Given the description of an element on the screen output the (x, y) to click on. 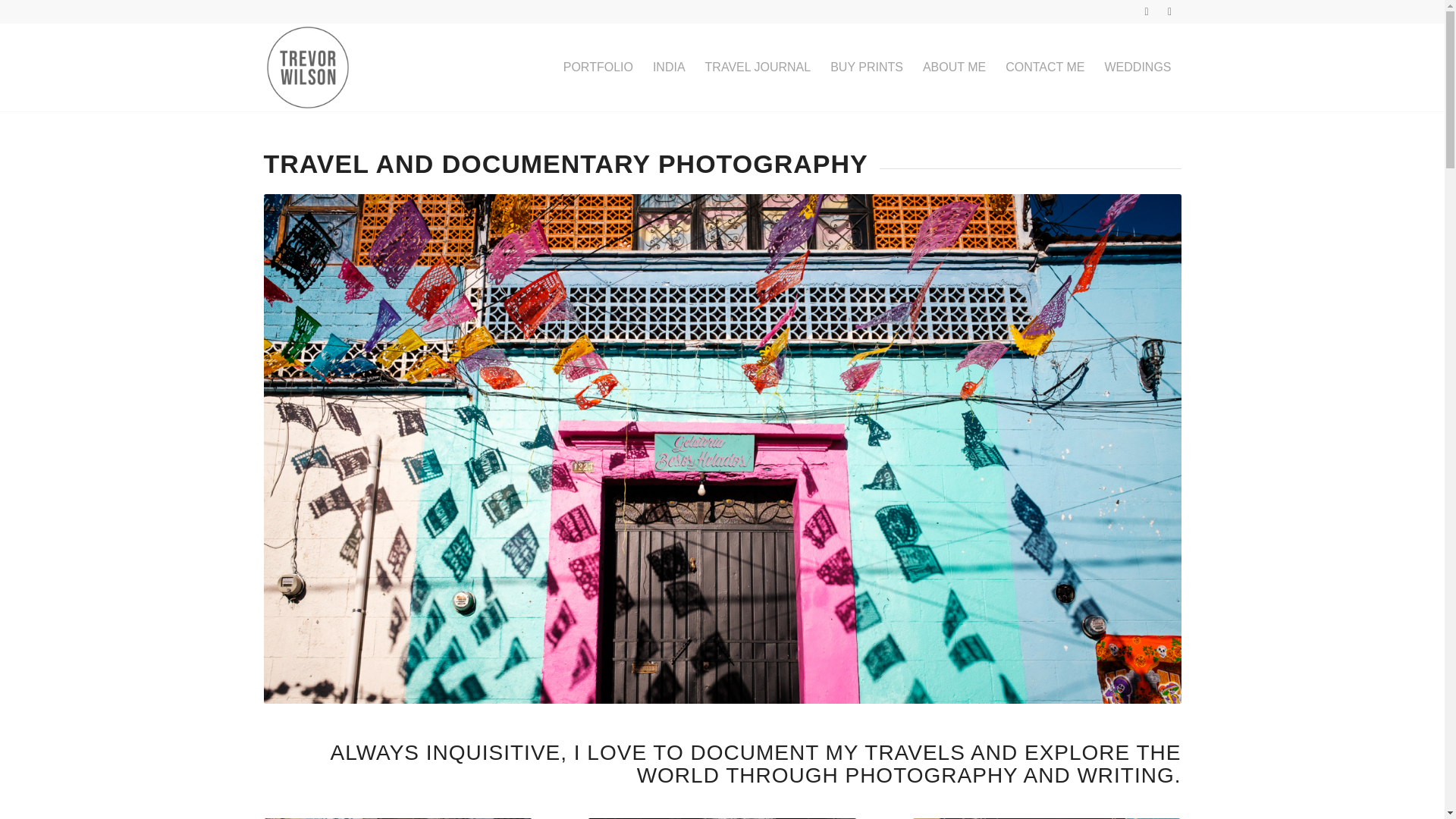
CONTACT ME (1044, 67)
ABOUT ME (953, 67)
Instagram (1169, 11)
TRAVEL JOURNAL (758, 67)
WEDDINGS (1137, 67)
PORTFOLIO (598, 67)
BUY PRINTS (866, 67)
Logo300px (307, 67)
X (1146, 11)
